Given the description of an element on the screen output the (x, y) to click on. 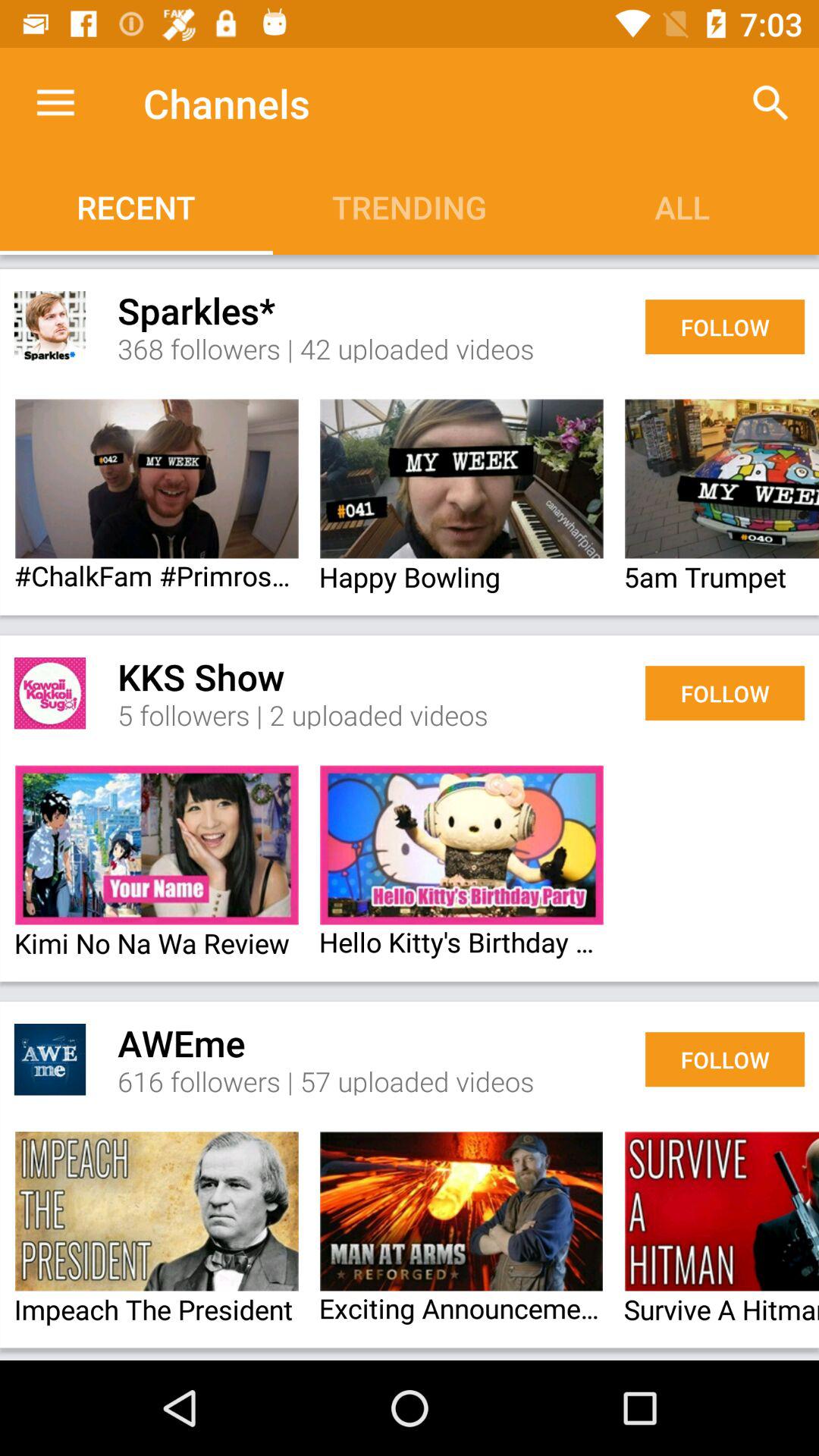
click app to the left of the channels app (55, 103)
